Given the description of an element on the screen output the (x, y) to click on. 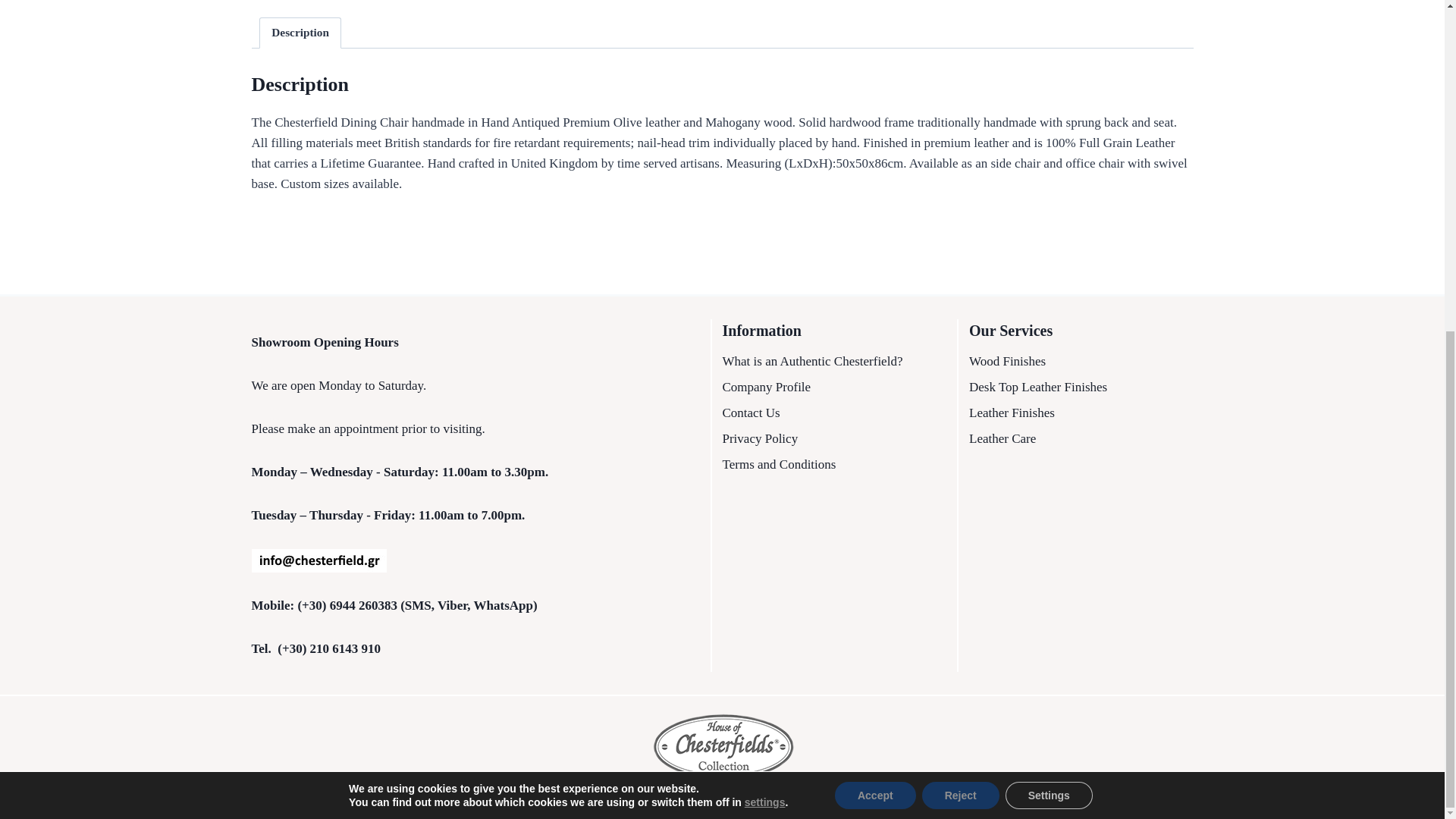
Contact Us (834, 412)
What is an Authentic Chesterfield? (834, 362)
Description (300, 33)
Company Profile (834, 388)
